Given the description of an element on the screen output the (x, y) to click on. 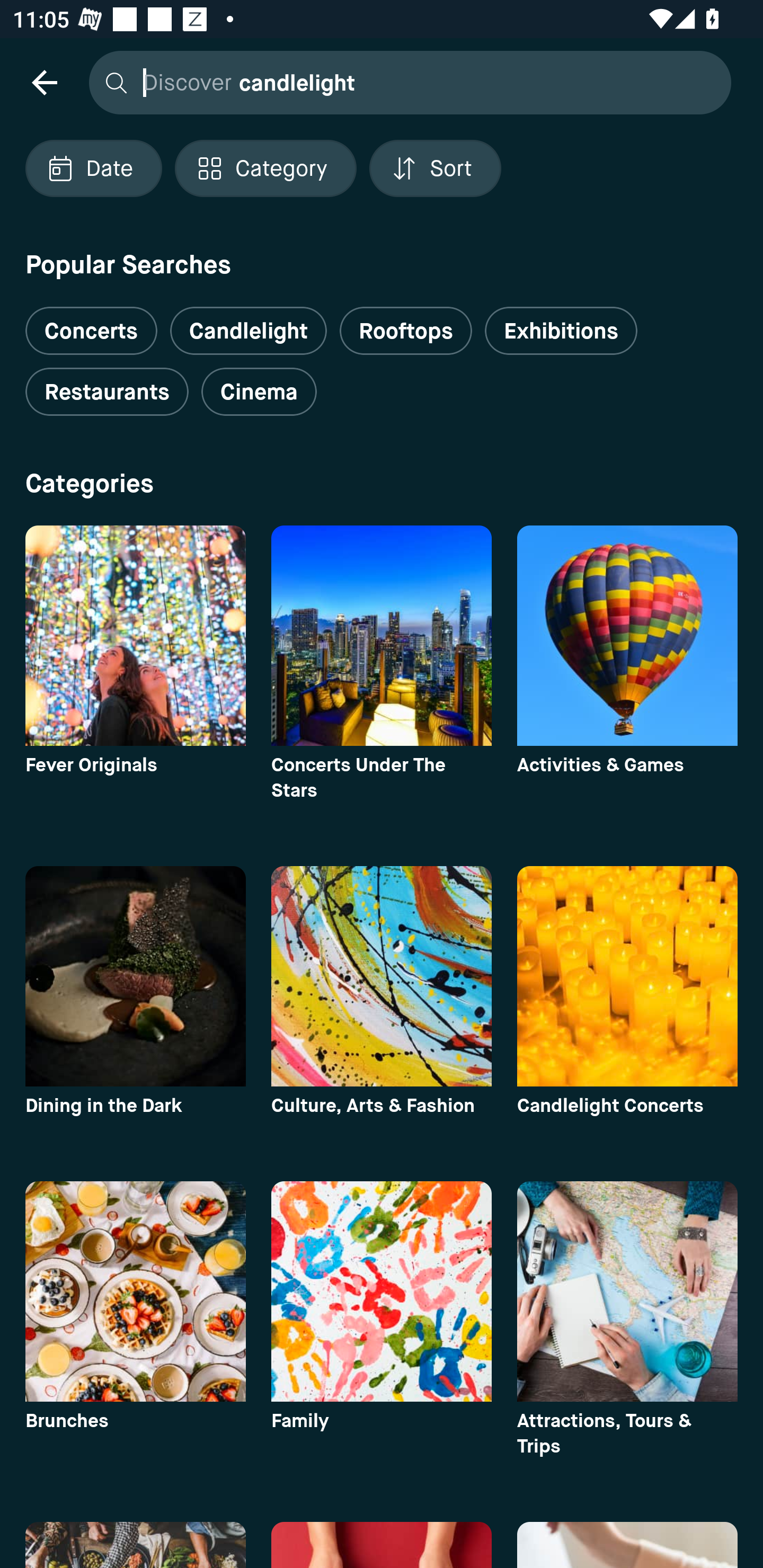
navigation icon (44, 81)
Discover candlelight (405, 81)
Localized description Date (93, 168)
Localized description Category (265, 168)
Localized description Sort (435, 168)
Concerts (91, 323)
Candlelight (248, 330)
Rooftops (405, 330)
Exhibitions (560, 330)
Restaurants (106, 391)
Cinema (258, 391)
category image (135, 635)
category image (381, 635)
category image (627, 635)
category image (135, 975)
category image (381, 975)
category image (627, 975)
category image (135, 1290)
category image (381, 1290)
category image (627, 1290)
